Given the description of an element on the screen output the (x, y) to click on. 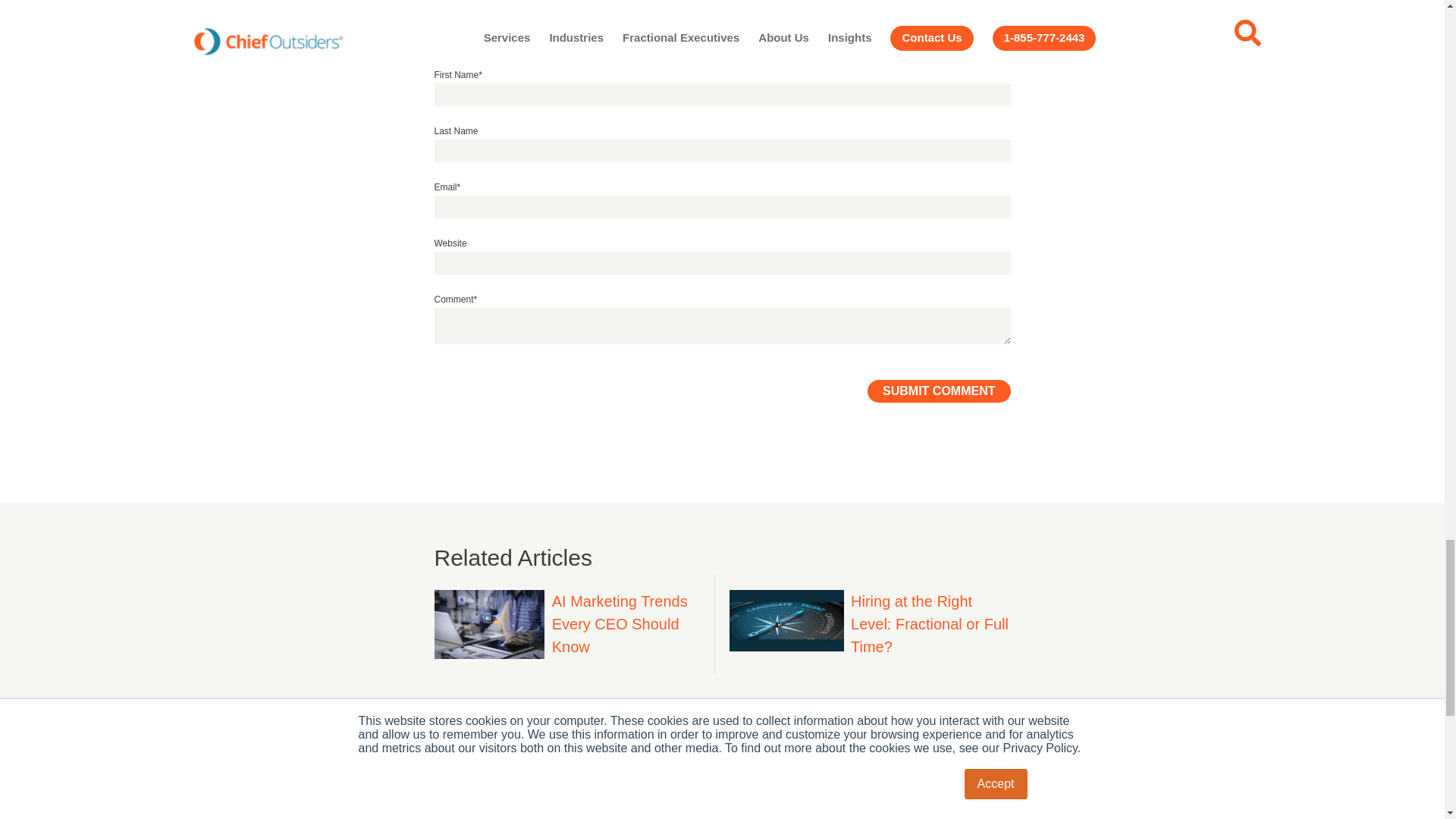
Submit Comment (938, 391)
